Given the description of an element on the screen output the (x, y) to click on. 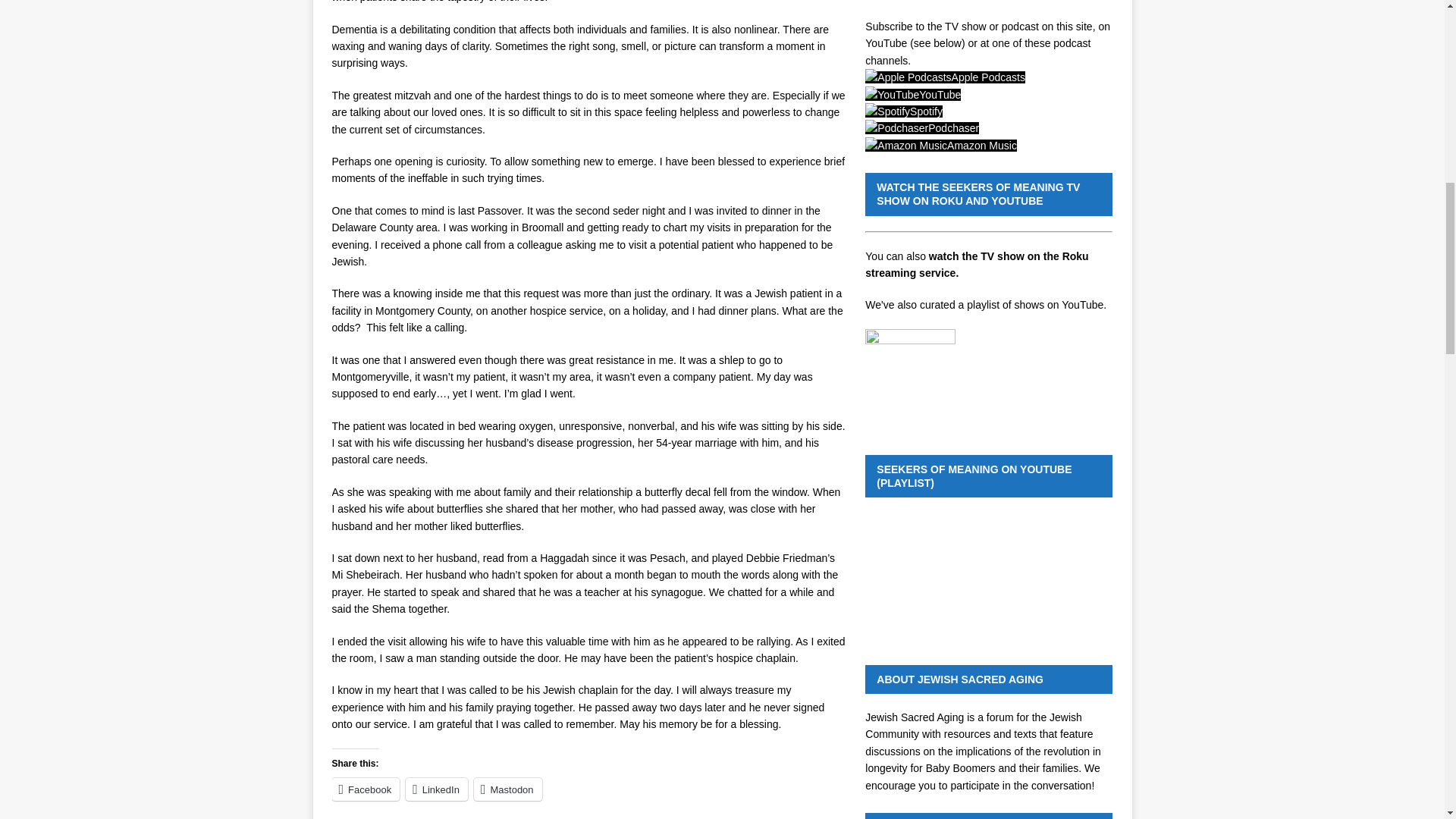
LinkedIn (436, 789)
Click to share on Mastodon (507, 789)
Facebook (365, 789)
Click to share on LinkedIn (436, 789)
Mastodon (507, 789)
Click to share on Facebook (365, 789)
